Given the description of an element on the screen output the (x, y) to click on. 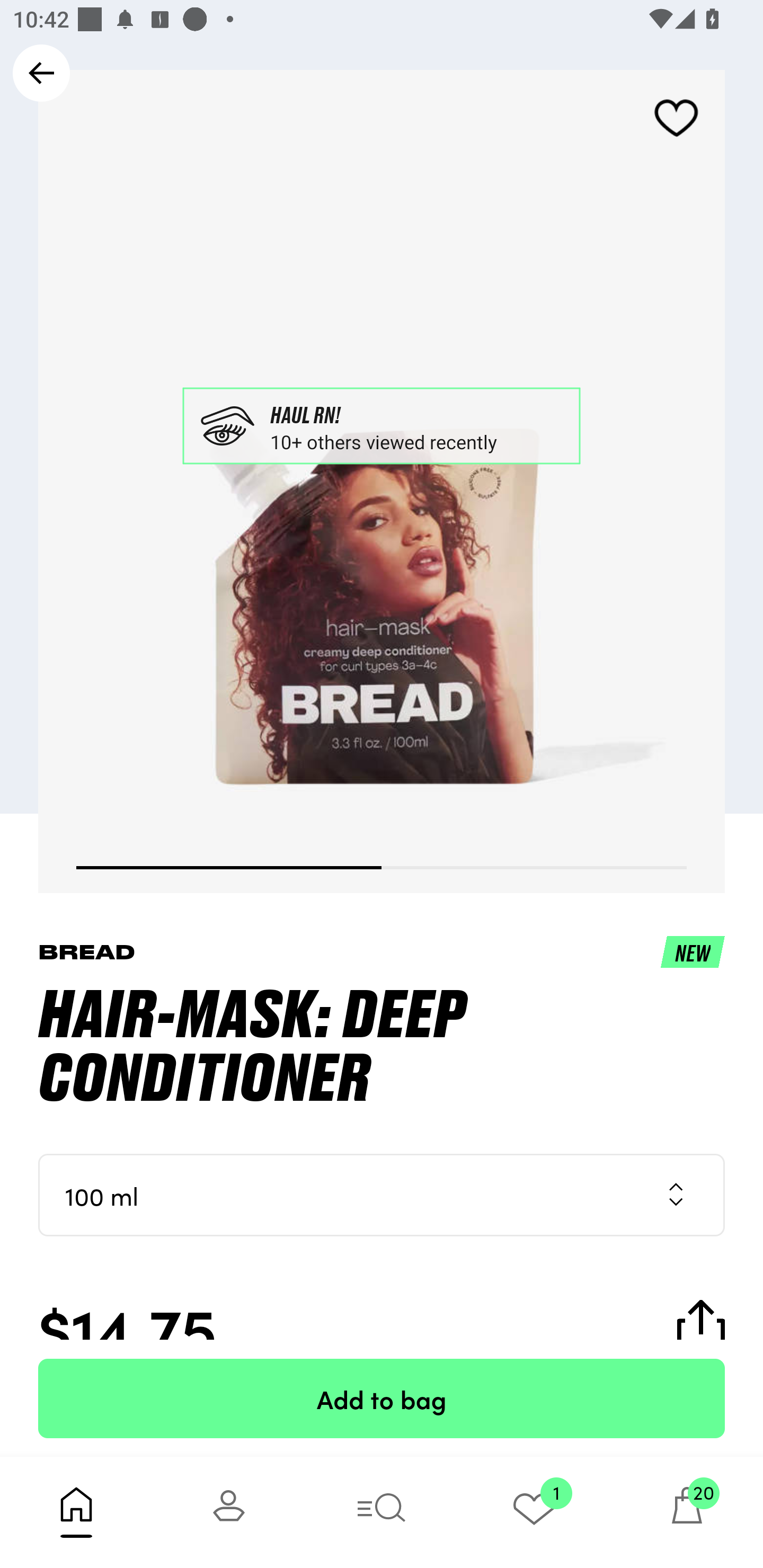
100 ml  (381, 1195)
Add to bag (381, 1398)
1 (533, 1512)
20 (686, 1512)
